Given the description of an element on the screen output the (x, y) to click on. 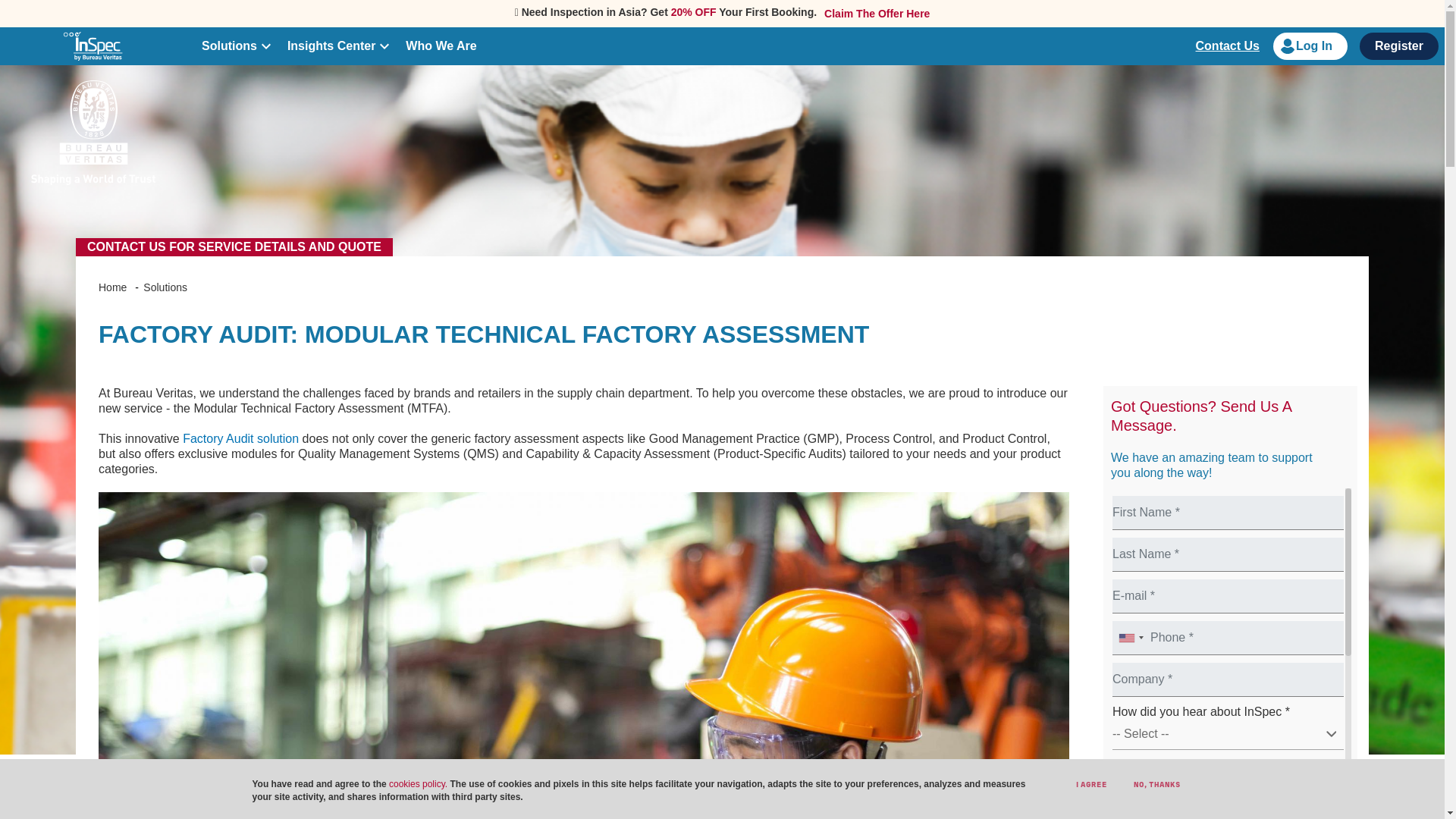
Who We Are (441, 46)
Solutions (229, 46)
Home (93, 46)
Claim The Offer Here (873, 13)
Insights Center (331, 46)
